Given the description of an element on the screen output the (x, y) to click on. 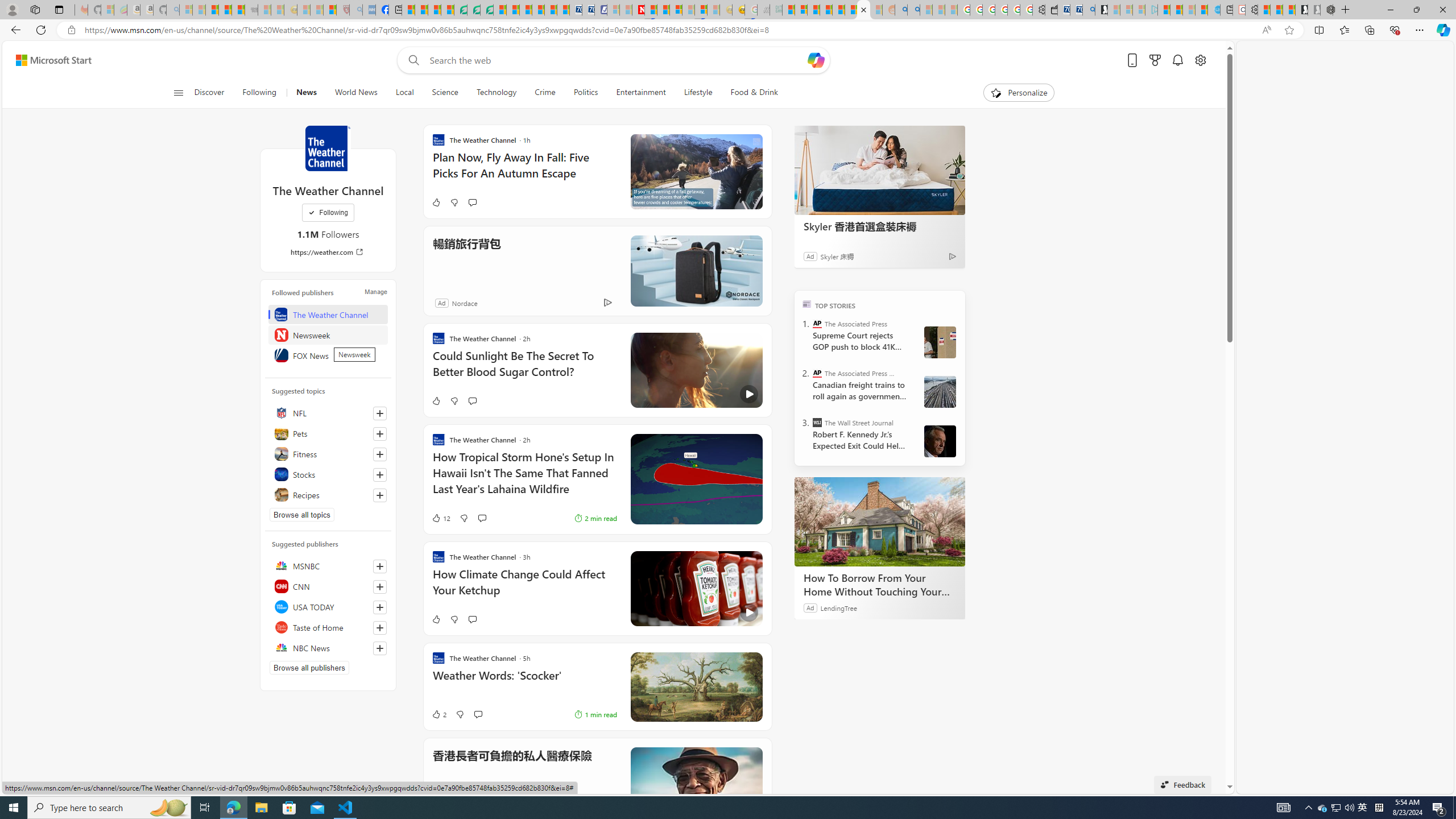
Local - MSN (329, 9)
Weather Words: 'Scocker' (524, 681)
